Given the description of an element on the screen output the (x, y) to click on. 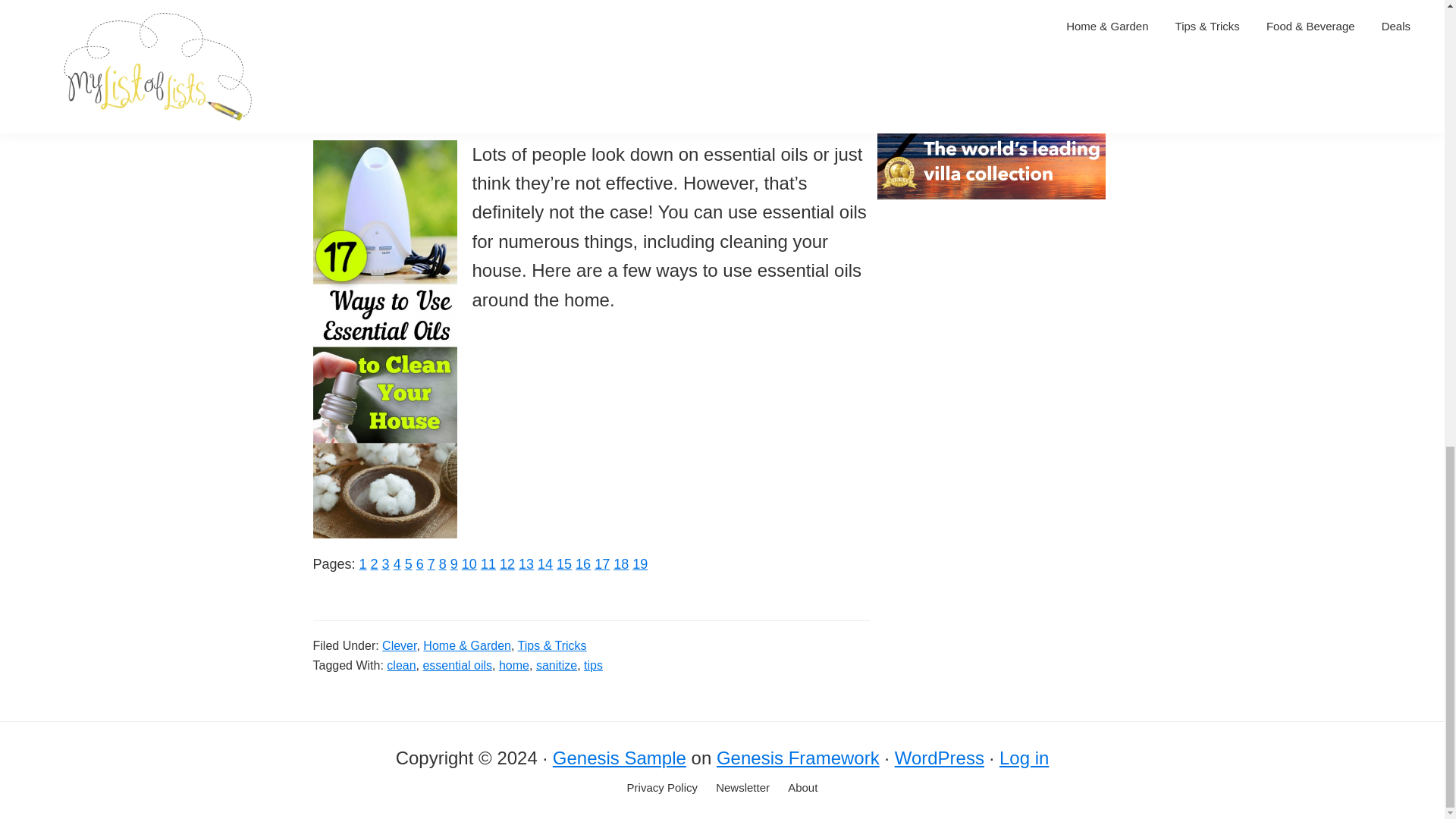
Essential Oil Diffusers (385, 563)
Christmas (745, 2)
17 Ways to Use Essential Oils to Clean Your House (414, 2)
Amber (453, 563)
holiday essential oils (587, 84)
oils (415, 114)
Christmas scents (392, 16)
diffuser blends (547, 16)
5 Comments (431, 563)
